Given the description of an element on the screen output the (x, y) to click on. 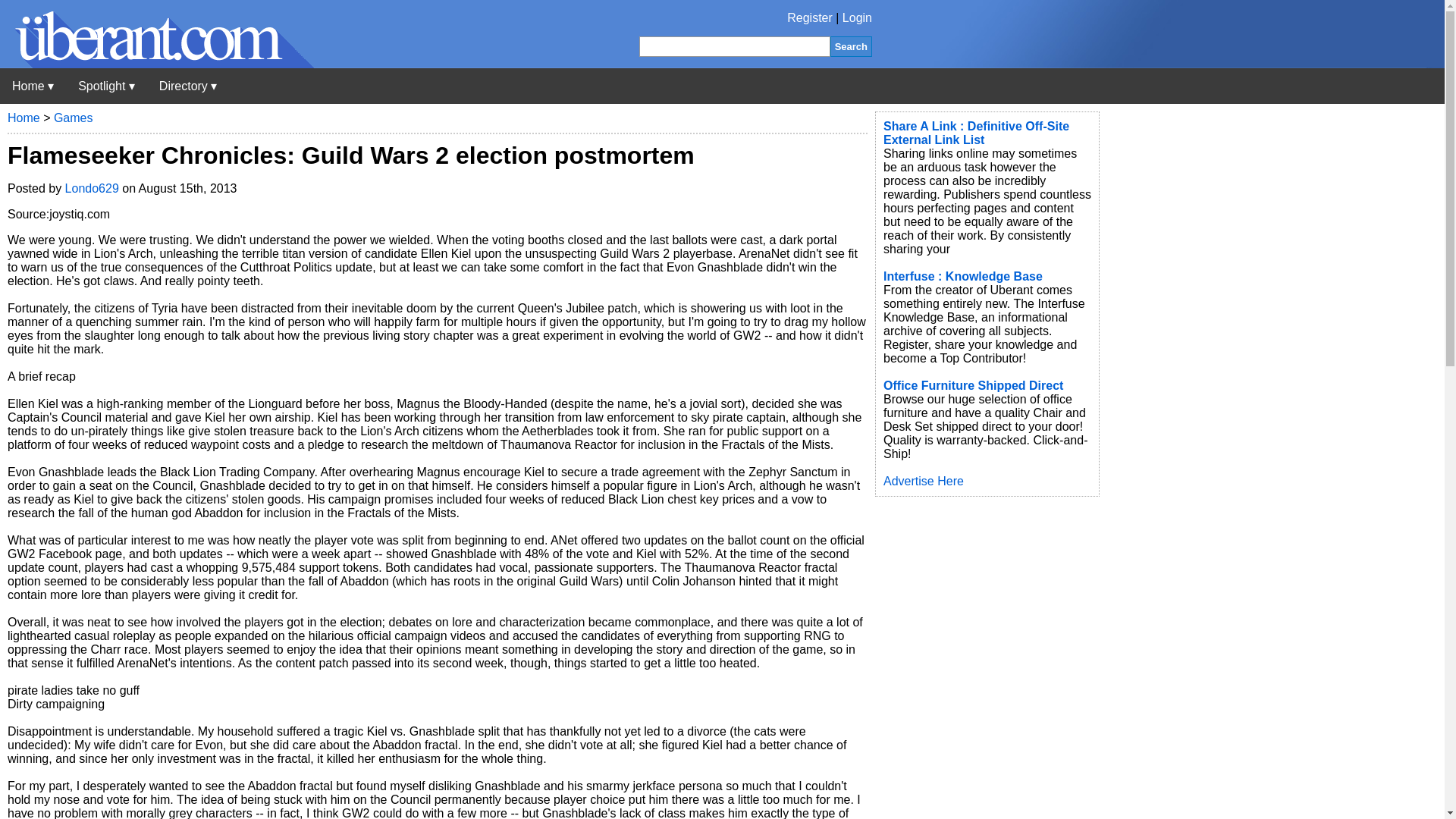
Search (850, 46)
Uberant (32, 85)
Register (809, 17)
Login (857, 17)
Uberant (157, 63)
Search (850, 46)
